Given the description of an element on the screen output the (x, y) to click on. 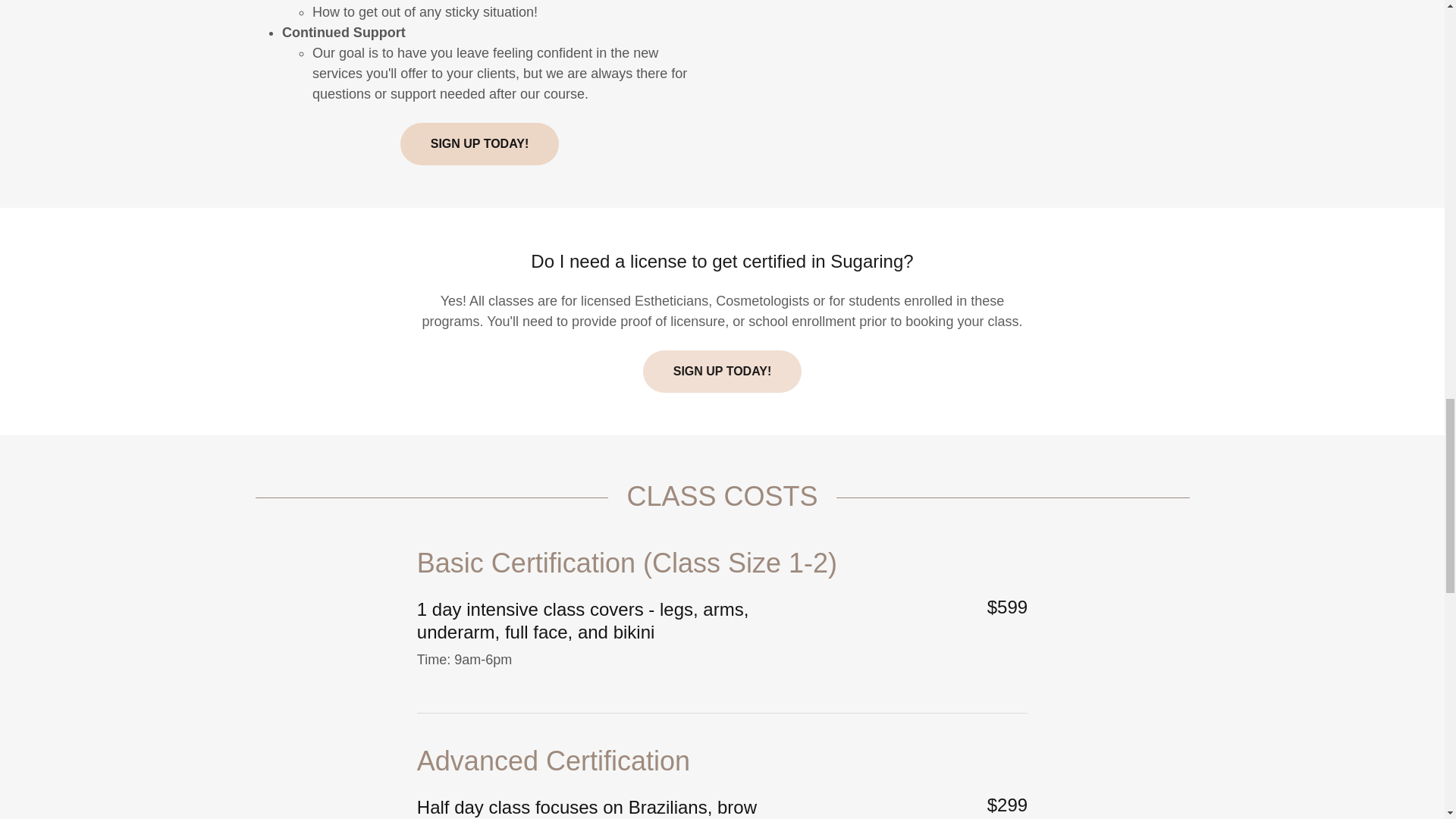
SIGN UP TODAY! (479, 143)
SIGN UP TODAY! (722, 371)
